Given the description of an element on the screen output the (x, y) to click on. 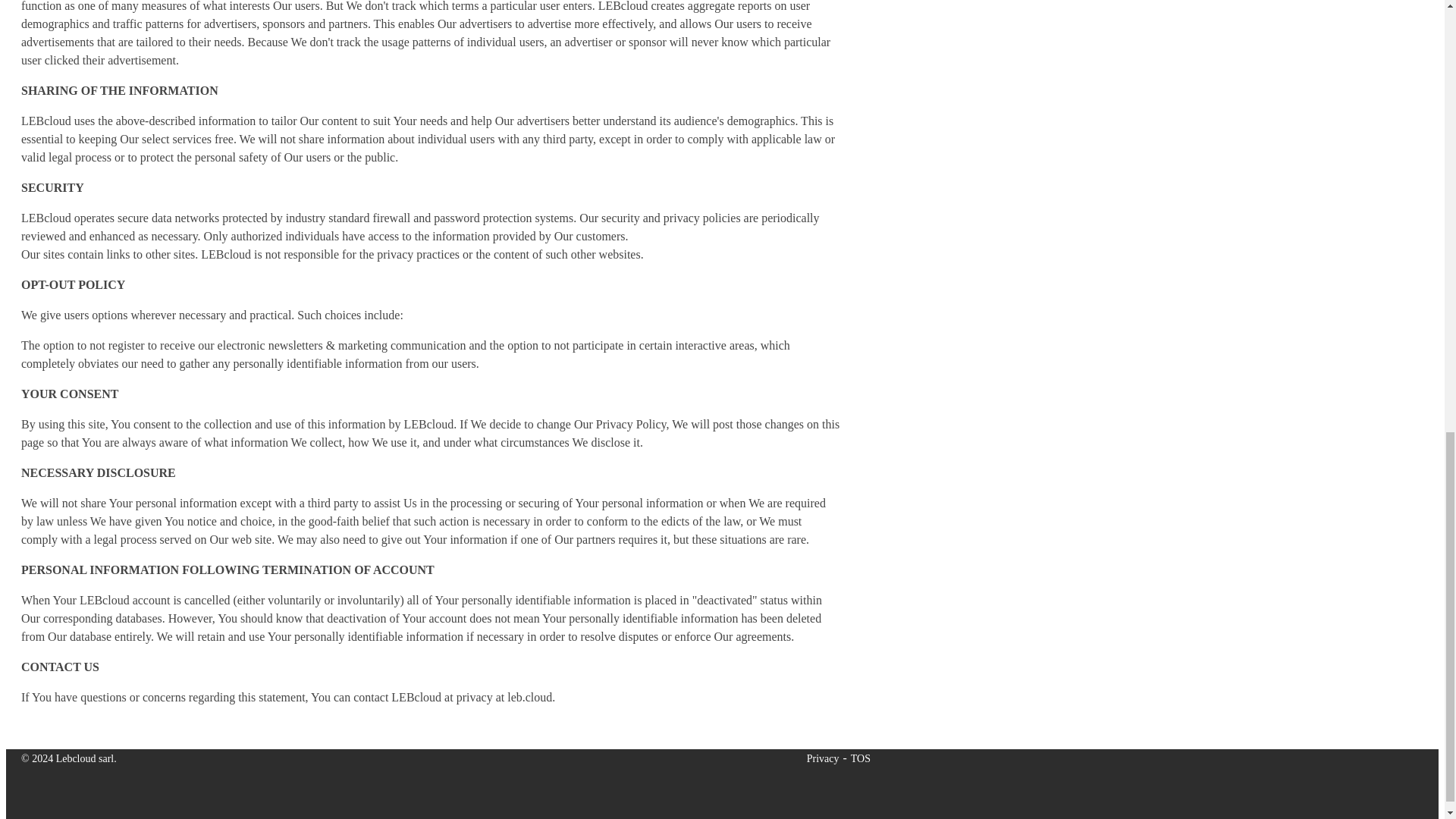
TOS (860, 758)
Privacy (823, 758)
